Given the description of an element on the screen output the (x, y) to click on. 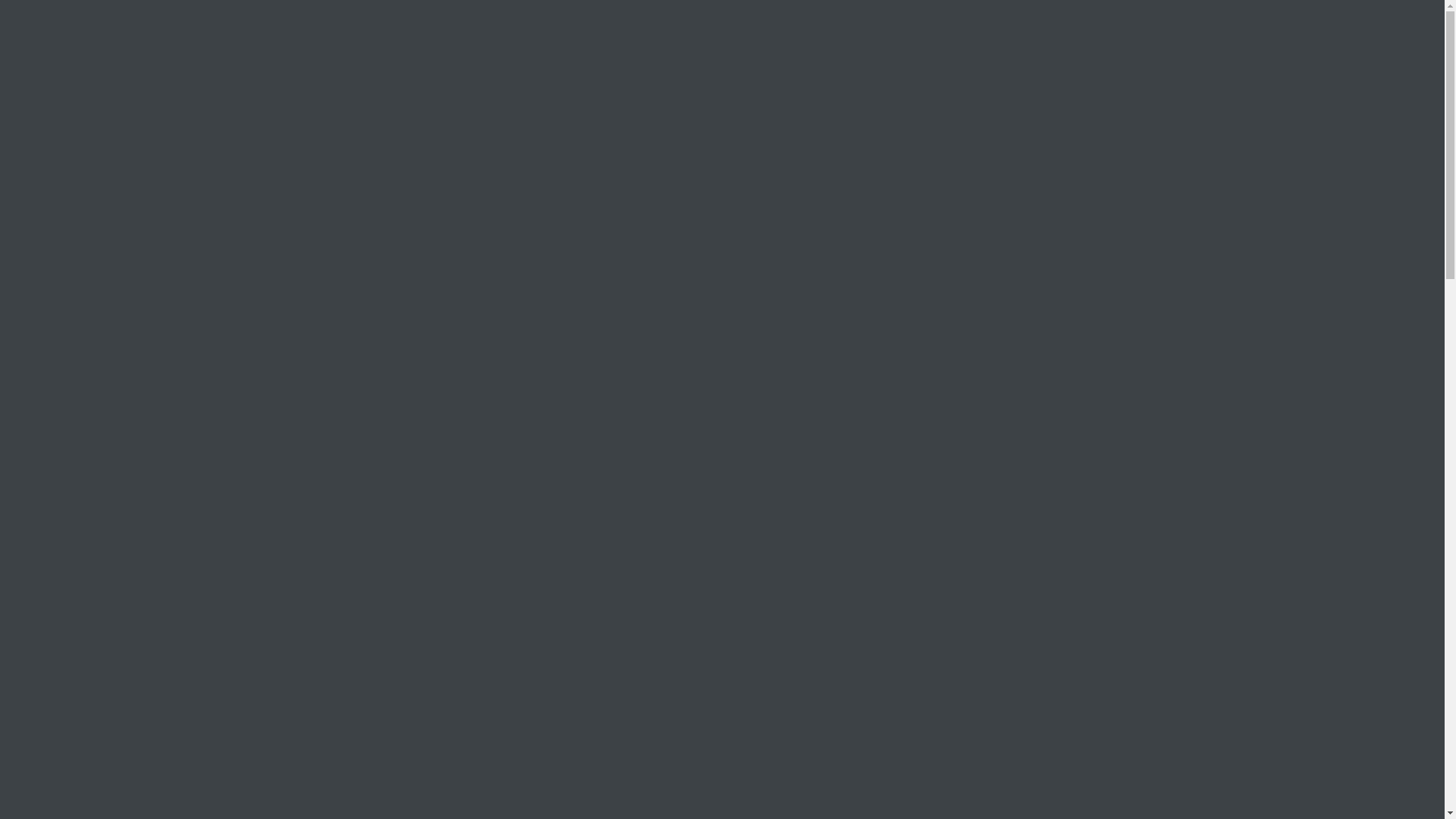
Erstellen Element type: text (722, 762)
Wein Element type: text (823, 397)
Produzenten Element type: text (390, 54)
Anmelden Element type: text (722, 459)
BESCHREIBUNG Element type: text (722, 768)
Wein Element type: text (260, 54)
0 Element type: text (1329, 55)
Essen Element type: text (315, 54)
Startseite Element type: text (129, 141)
Kontakt Element type: text (472, 54)
Qty Element type: hover (935, 336)
Home Element type: text (128, 54)
